Given the description of an element on the screen output the (x, y) to click on. 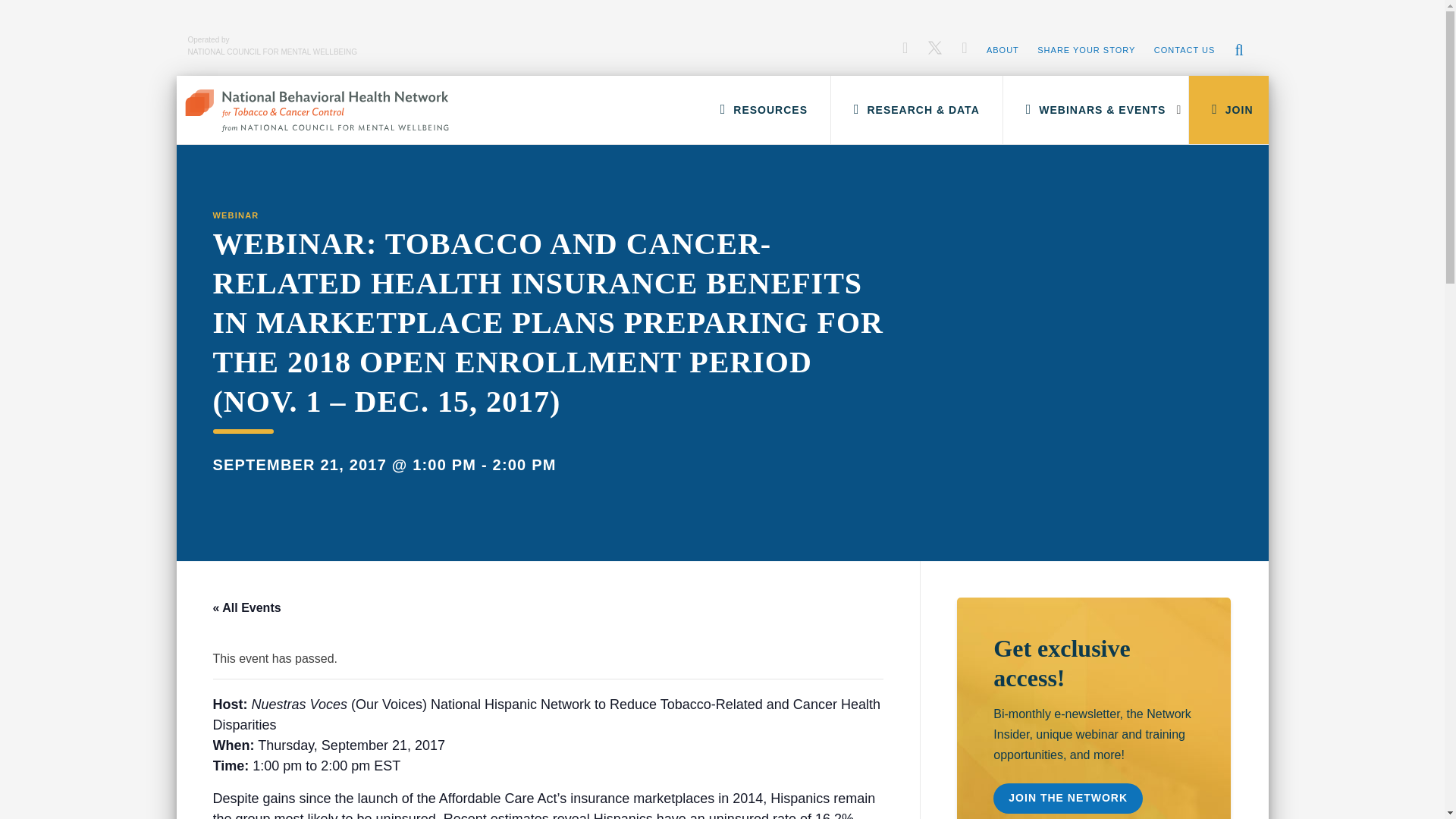
ABOUT (1002, 49)
SHARE YOUR STORY (1085, 49)
JOIN THE NETWORK (1067, 798)
RESOURCES (763, 110)
Twitter (934, 44)
WEBINAR (235, 215)
JOIN (1228, 110)
CONTACT US (1185, 49)
